Given the description of an element on the screen output the (x, y) to click on. 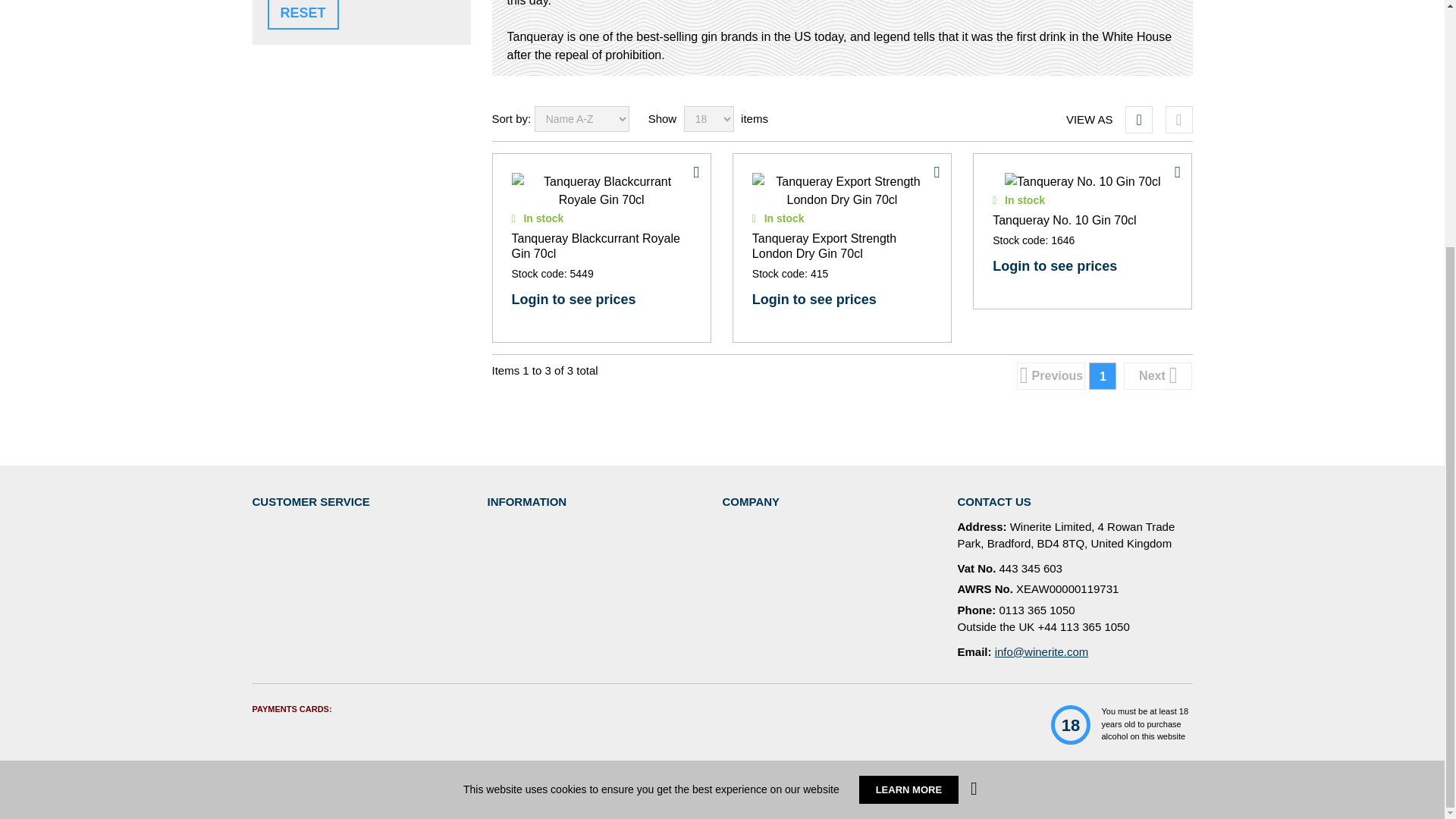
Tanqueray Blackcurrant Royale Gin 70cl (600, 190)
Tanqueray No. 10 Gin 70cl (1082, 181)
Reset (301, 14)
Tanqueray Export Strength London Dry Gin 70cl (841, 190)
